Given the description of an element on the screen output the (x, y) to click on. 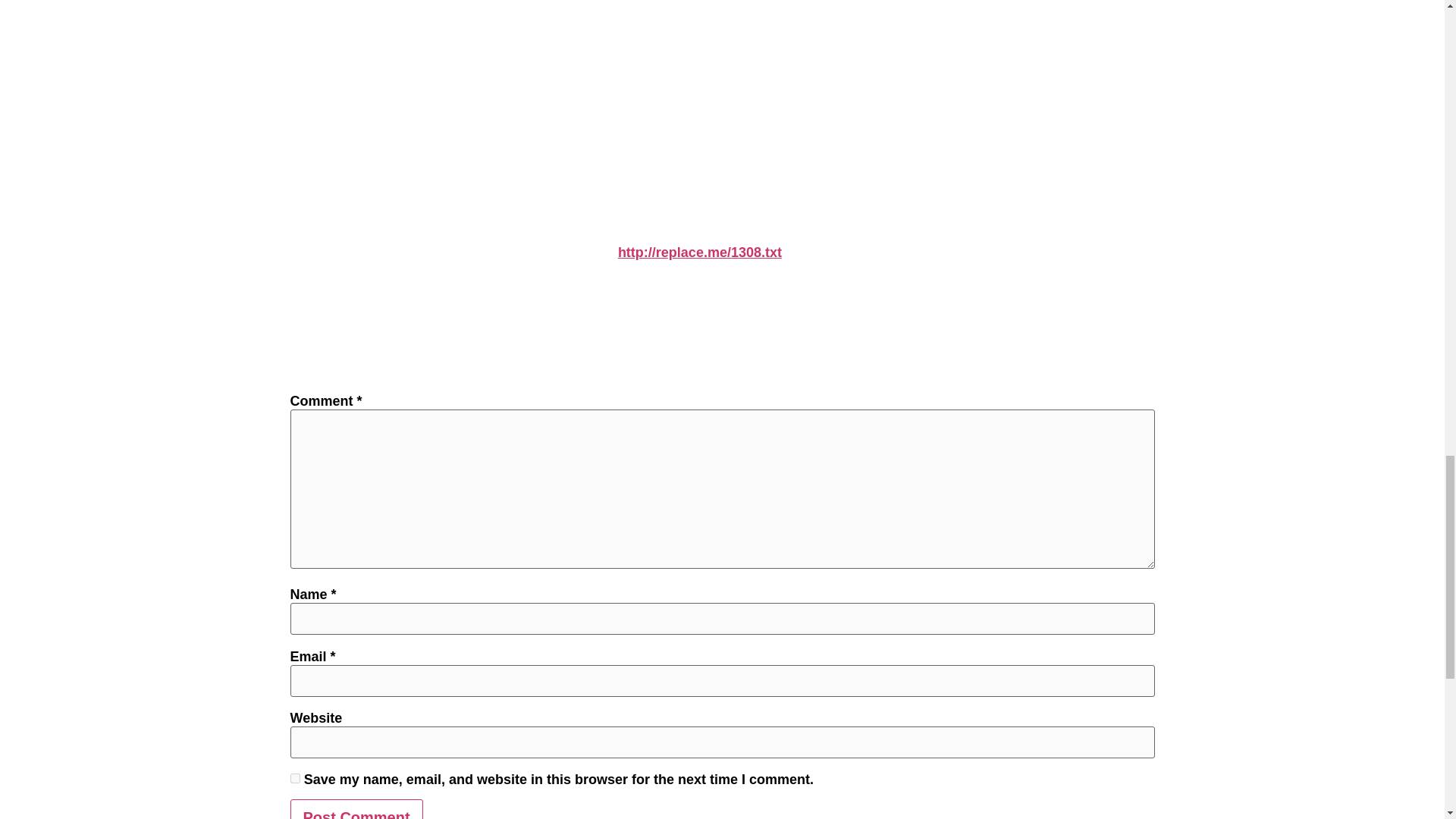
yes (294, 777)
Post Comment (355, 809)
Post Comment (355, 809)
